Given the description of an element on the screen output the (x, y) to click on. 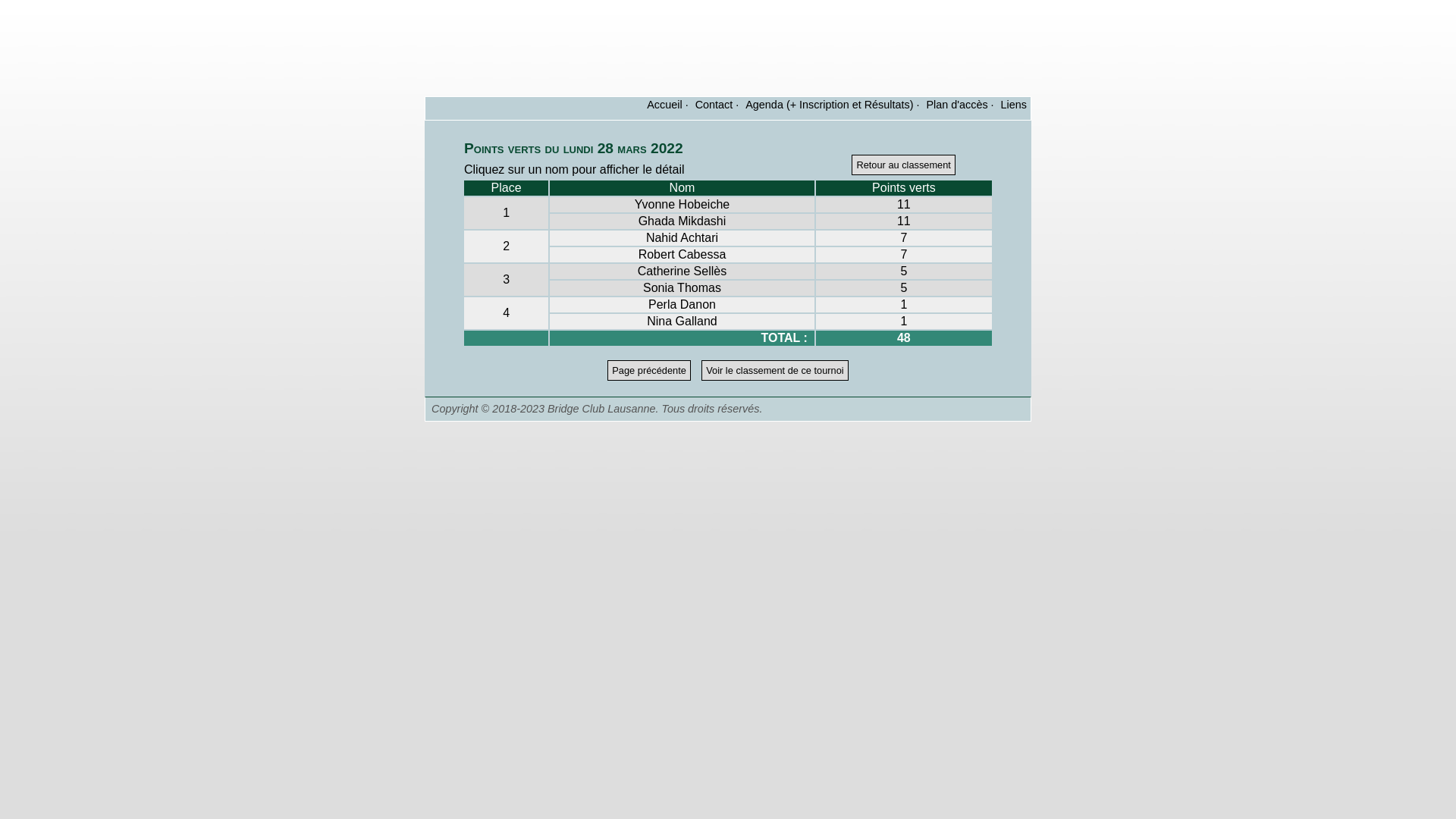
Robert Cabessa Element type: text (682, 253)
Liens Element type: text (1013, 104)
Nina Galland Element type: text (681, 320)
Retour au classement Element type: text (902, 164)
Perla Danon Element type: text (681, 304)
Nahid Achtari Element type: text (682, 237)
Yvonne Hobeiche Element type: text (681, 203)
Ghada Mikdashi Element type: text (682, 220)
Accueil Element type: text (663, 104)
Sonia Thomas Element type: text (682, 287)
Voir le classement de ce tournoi Element type: text (774, 370)
Contact Element type: text (714, 104)
